Given the description of an element on the screen output the (x, y) to click on. 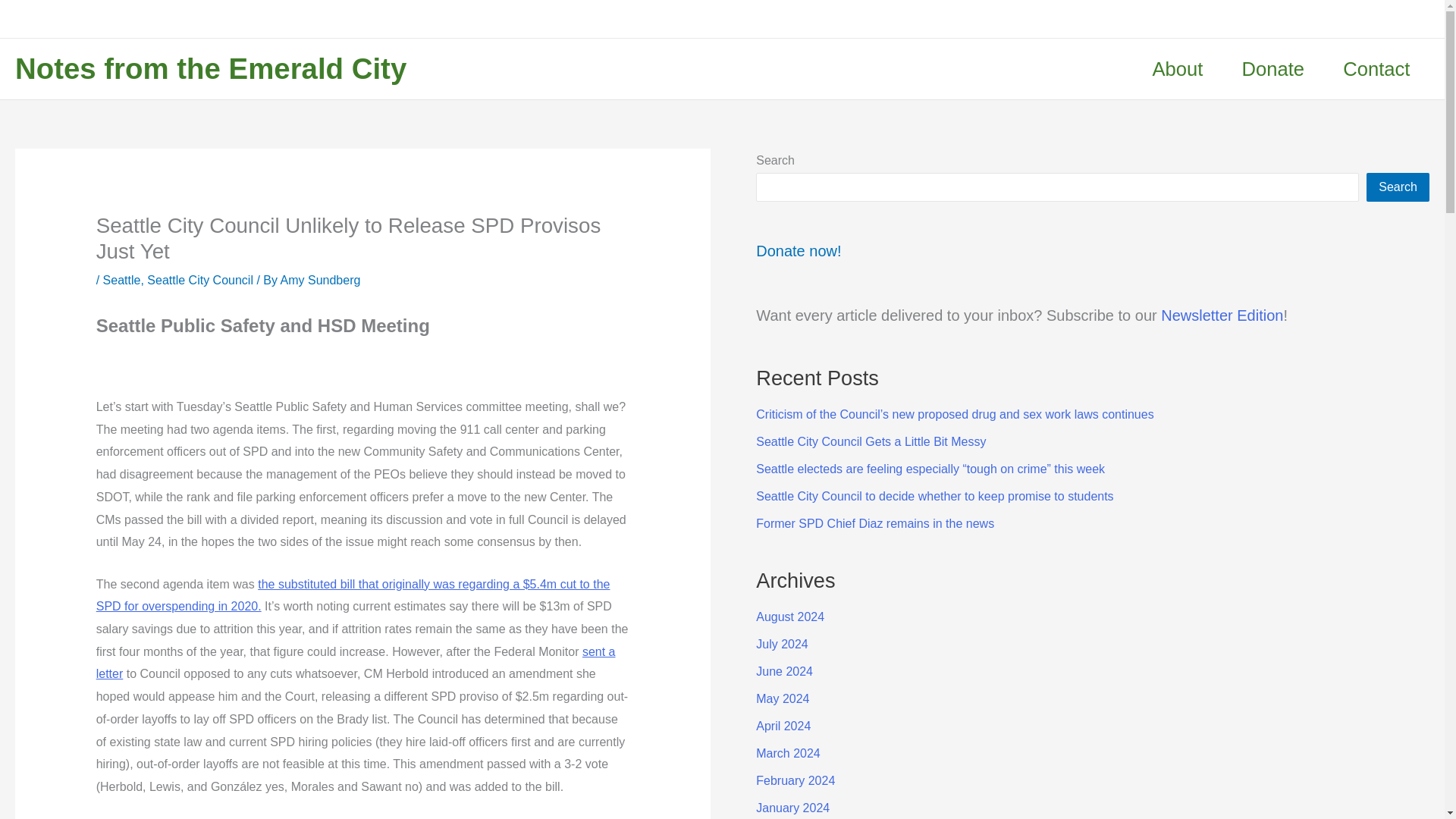
About (1177, 68)
Seattle City Council (200, 279)
Notes from the Emerald City (210, 68)
Seattle (122, 279)
Contact (1376, 68)
sent a letter (355, 662)
View all posts by Amy Sundberg (321, 279)
Donate (1273, 68)
Amy Sundberg (321, 279)
